Given the description of an element on the screen output the (x, y) to click on. 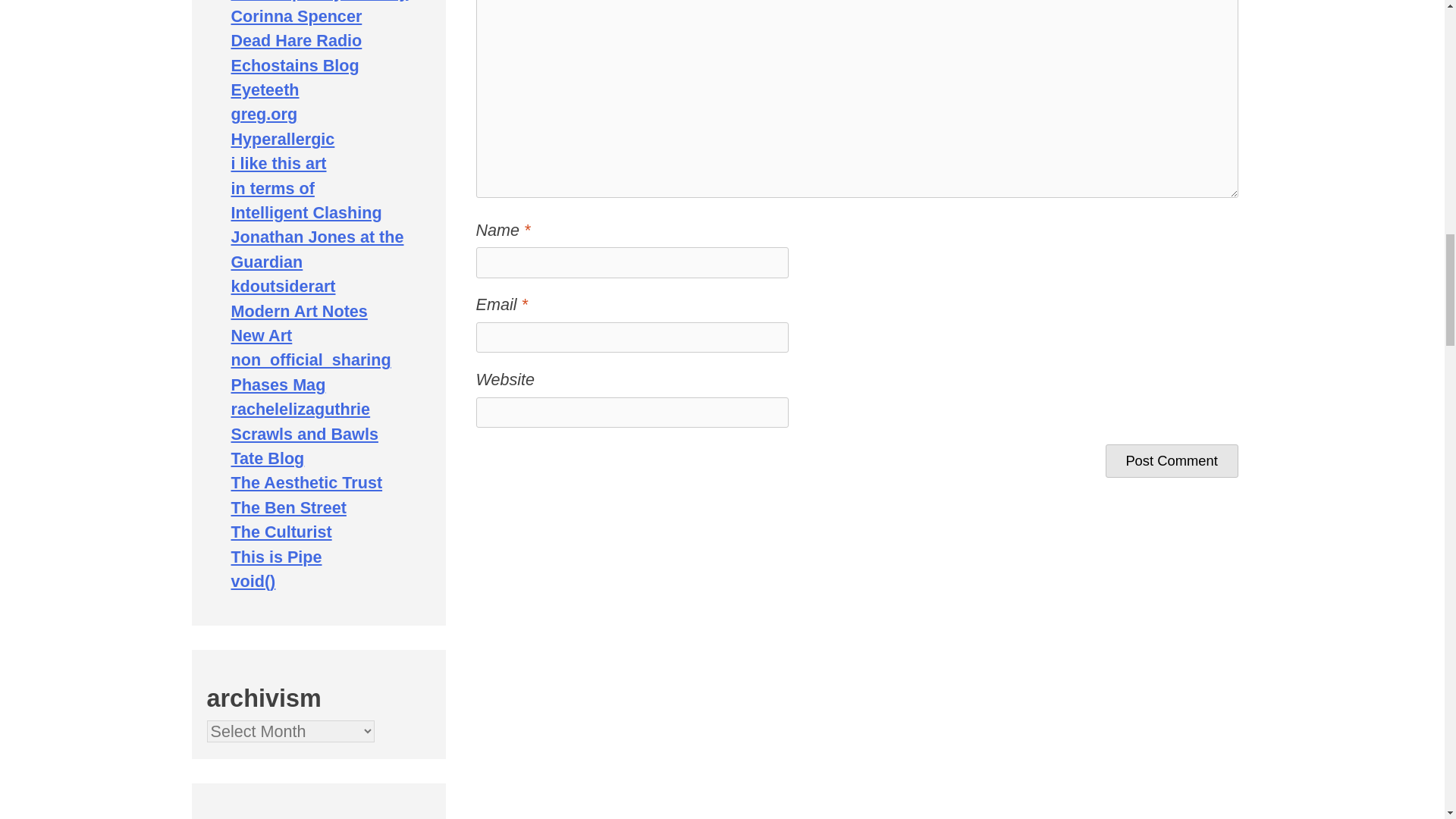
Post Comment (1172, 460)
Post Comment (1172, 460)
